Given the description of an element on the screen output the (x, y) to click on. 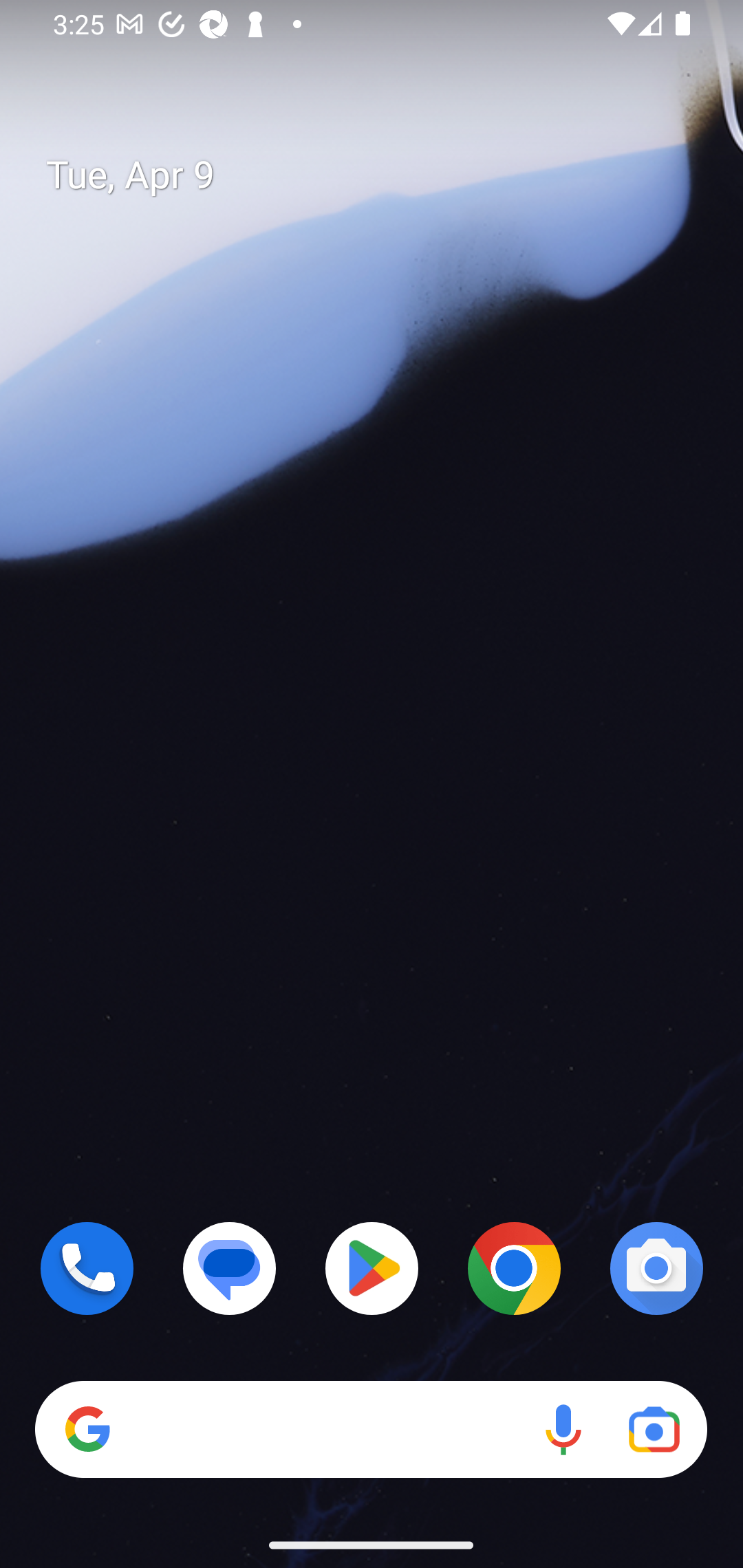
Tue, Apr 9 (386, 175)
Phone (86, 1268)
Messages (229, 1268)
Play Store (371, 1268)
Chrome (513, 1268)
Camera (656, 1268)
Search Voice search Google Lens (370, 1429)
Voice search (562, 1429)
Google Lens (653, 1429)
